Given the description of an element on the screen output the (x, y) to click on. 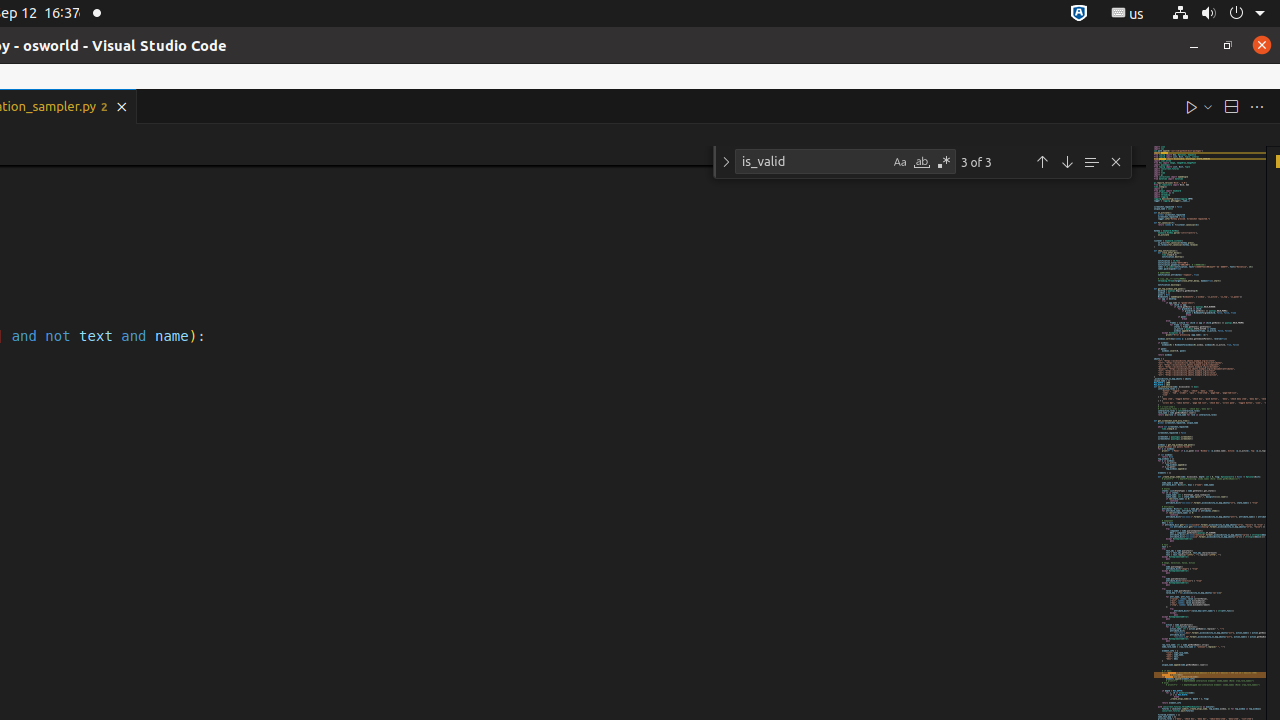
Run Python File Element type: push-button (1192, 106)
More Actions... Element type: push-button (1257, 106)
